Given the description of an element on the screen output the (x, y) to click on. 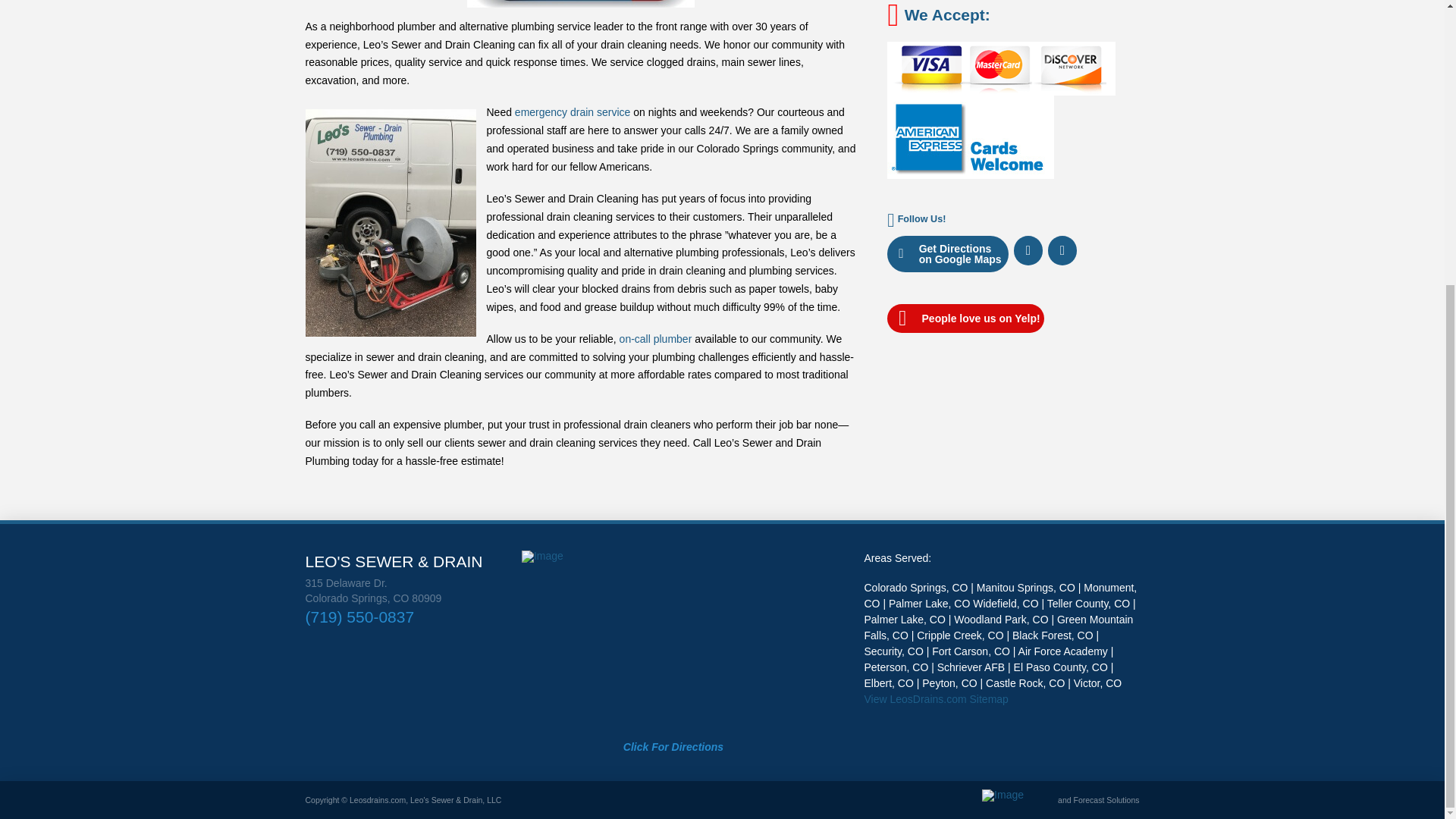
emergency drain service (572, 111)
Get Directions on Google Maps (947, 253)
on-call plumber (656, 338)
People love us on Yelp! (964, 318)
Click For Directions (673, 747)
View LeosDrains.com Sitemap (936, 698)
